Given the description of an element on the screen output the (x, y) to click on. 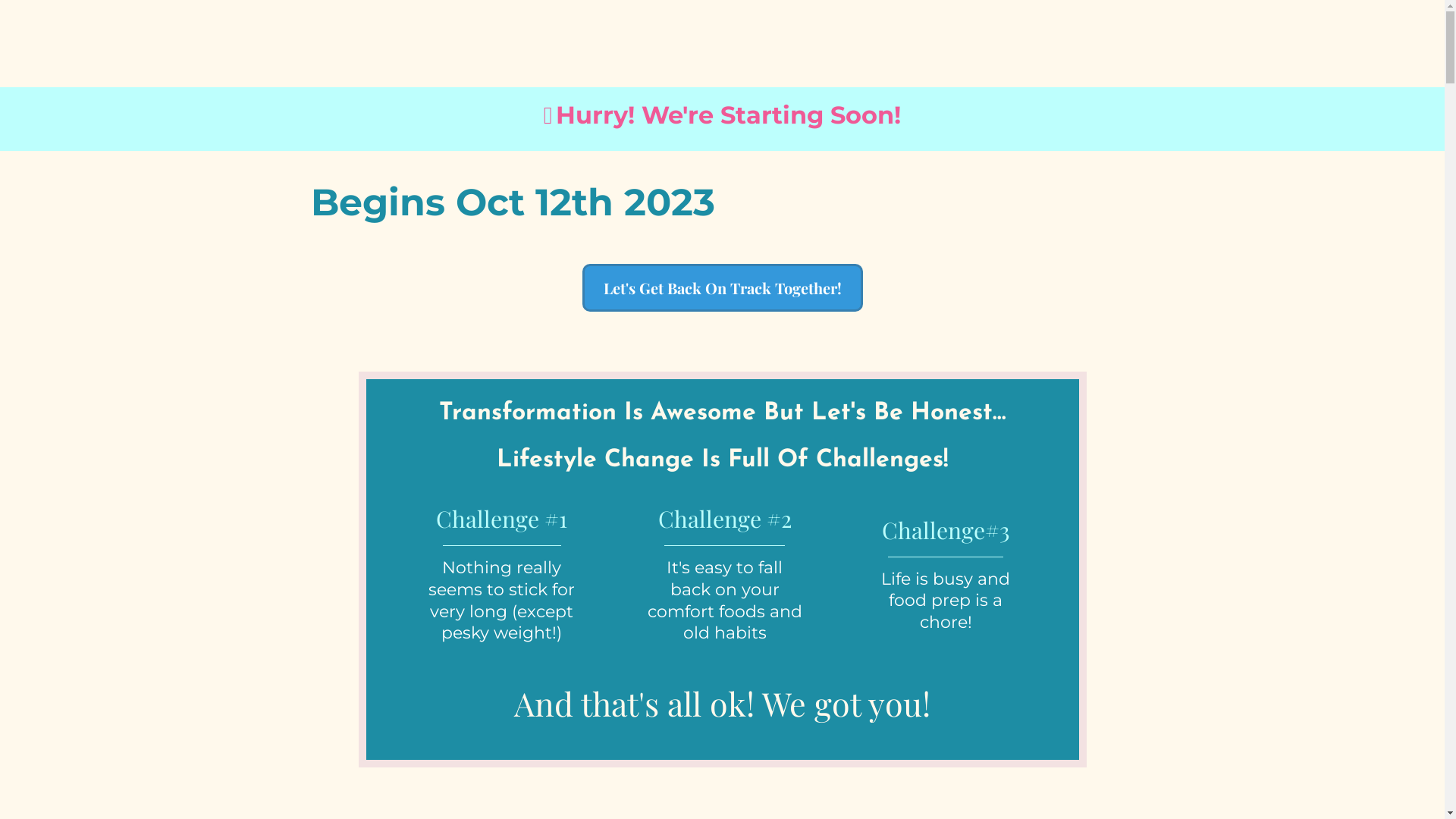
Let's Get Back On Track Together! Element type: text (722, 287)
